Given the description of an element on the screen output the (x, y) to click on. 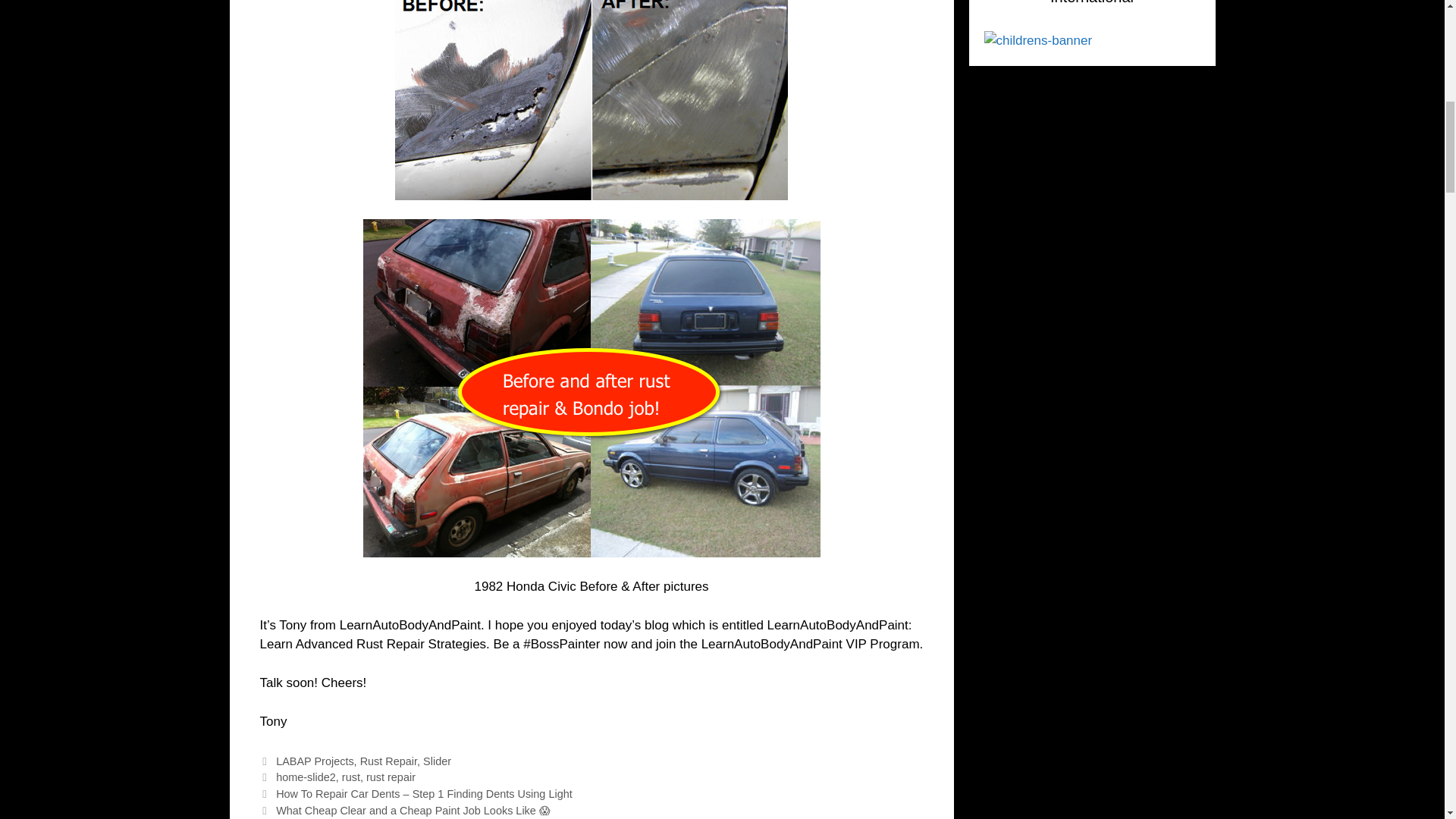
Rust Repair (387, 761)
LABAP Projects (314, 761)
home-slide2 (306, 776)
rust (350, 776)
rust repair (390, 776)
Slider (437, 761)
Scroll back to top (1406, 720)
